Given the description of an element on the screen output the (x, y) to click on. 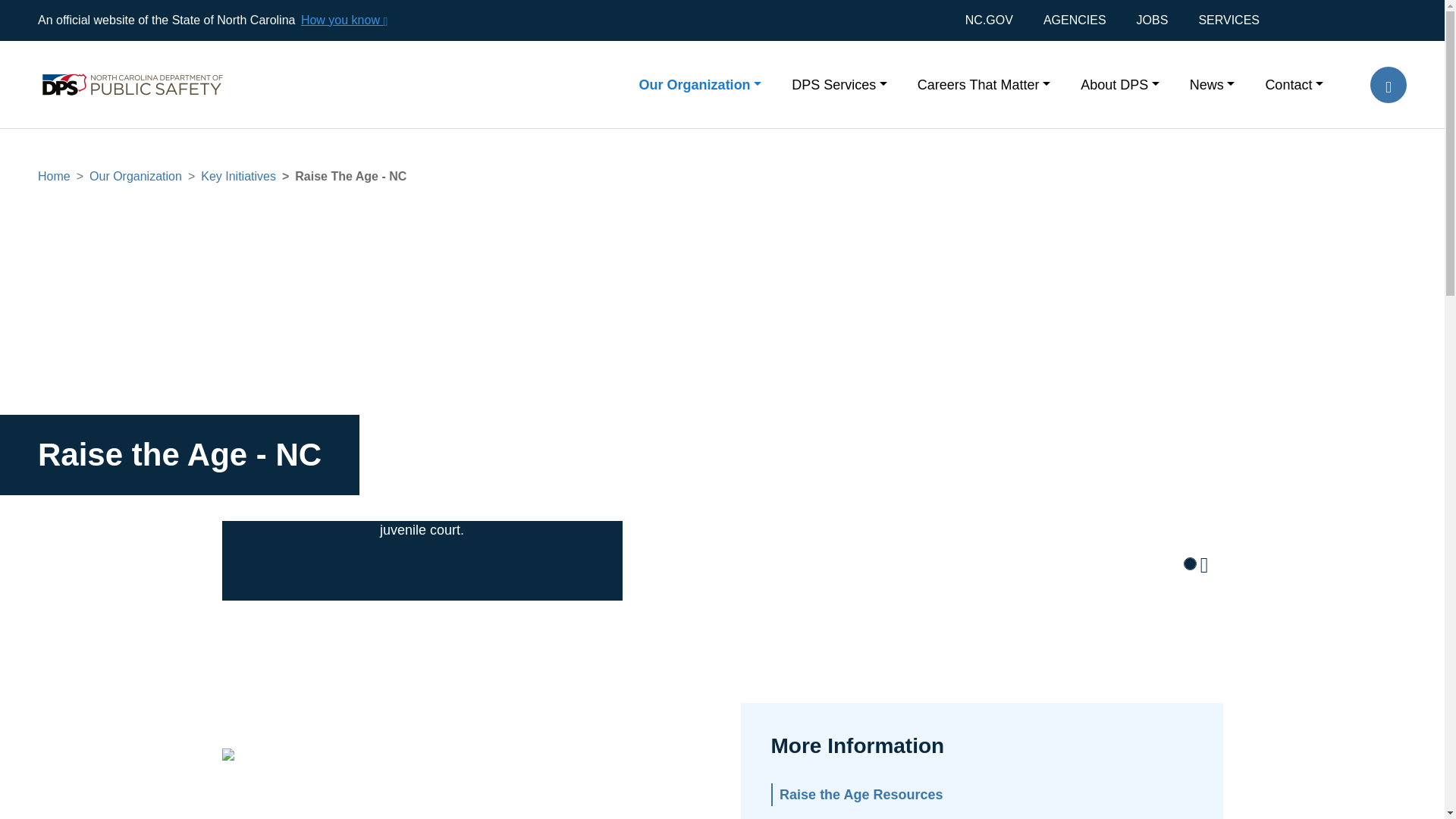
How you know (342, 20)
About DPS (1119, 83)
JOBS (1152, 20)
Contact (1286, 83)
AGENCIES (1074, 20)
SERVICES (1228, 20)
Our Organization (700, 83)
NC.GOV (996, 20)
Careers That Matter (983, 83)
DPS Services (839, 83)
